Given the description of an element on the screen output the (x, y) to click on. 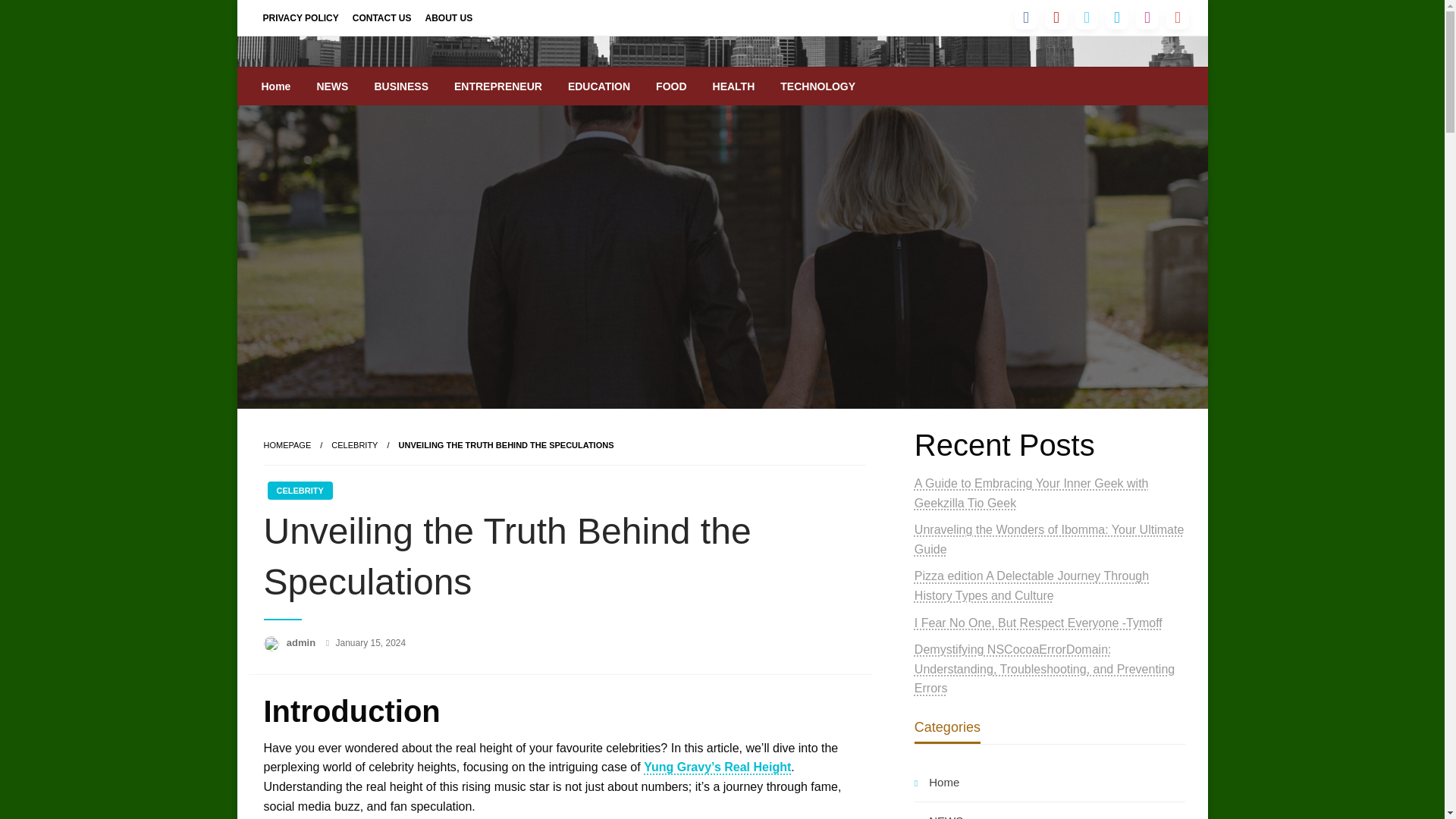
PRIVACY POLICY (301, 17)
CELEBRITY (354, 444)
CELEBRITY (354, 444)
CONTACT US (382, 17)
NEWS (331, 86)
TECHNOLOGY (817, 86)
admin (302, 642)
HEALTH (734, 86)
BUSINESS (401, 86)
Unveiling the Truth Behind the Speculations (506, 444)
US BREAKINGS (377, 78)
Home (276, 86)
ABOUT US (449, 17)
January 15, 2024 (370, 643)
CELEBRITY (298, 490)
